Given the description of an element on the screen output the (x, y) to click on. 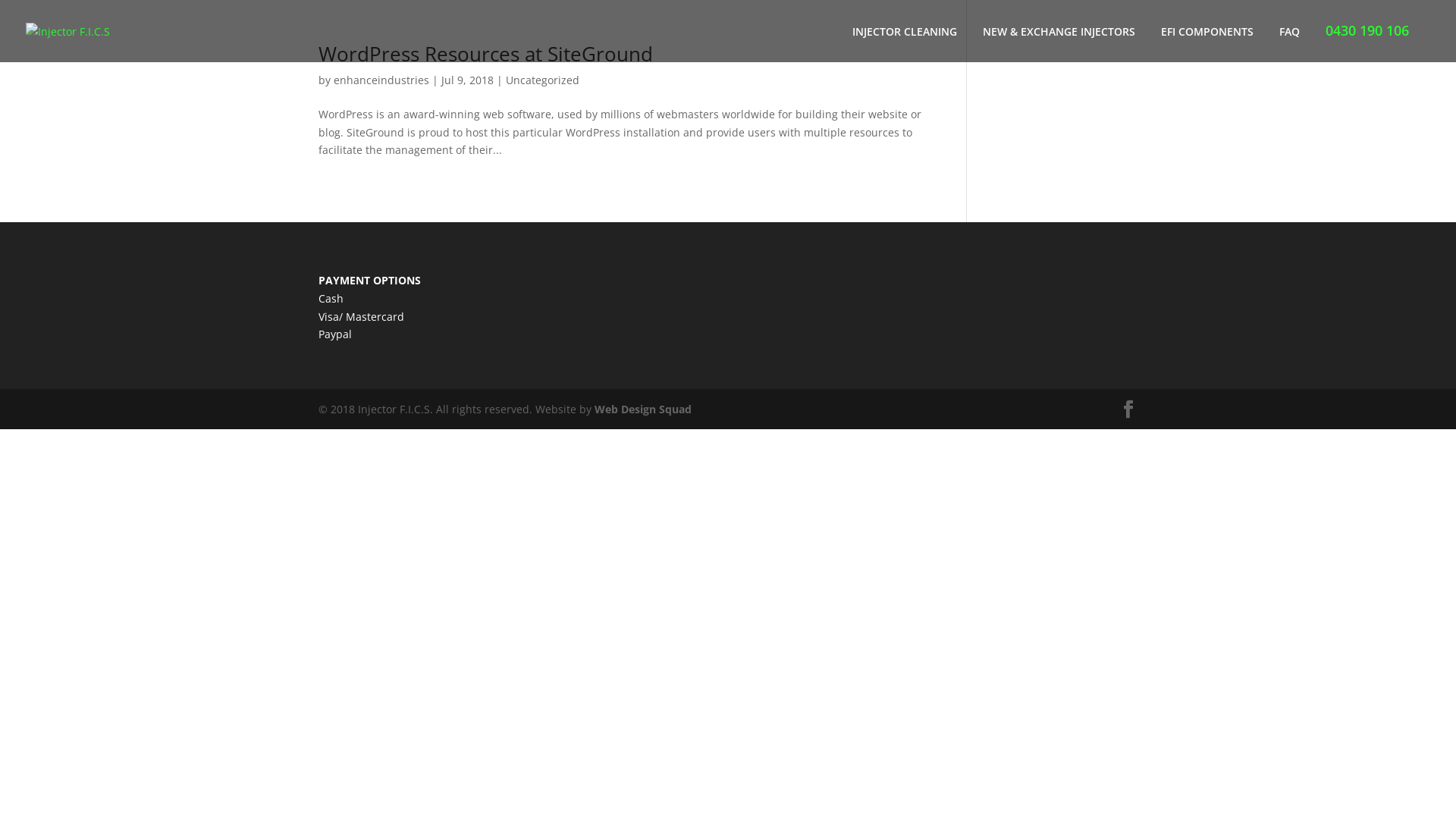
INJECTOR CLEANING Element type: text (904, 44)
WordPress Resources at SiteGround Element type: text (485, 53)
Web Design Squad Element type: text (642, 408)
EFI COMPONENTS Element type: text (1207, 44)
enhanceindustries Element type: text (381, 79)
NEW & EXCHANGE INJECTORS Element type: text (1058, 44)
0430 190 106 Element type: text (1366, 42)
Uncategorized Element type: text (542, 79)
FAQ Element type: text (1289, 44)
